Given the description of an element on the screen output the (x, y) to click on. 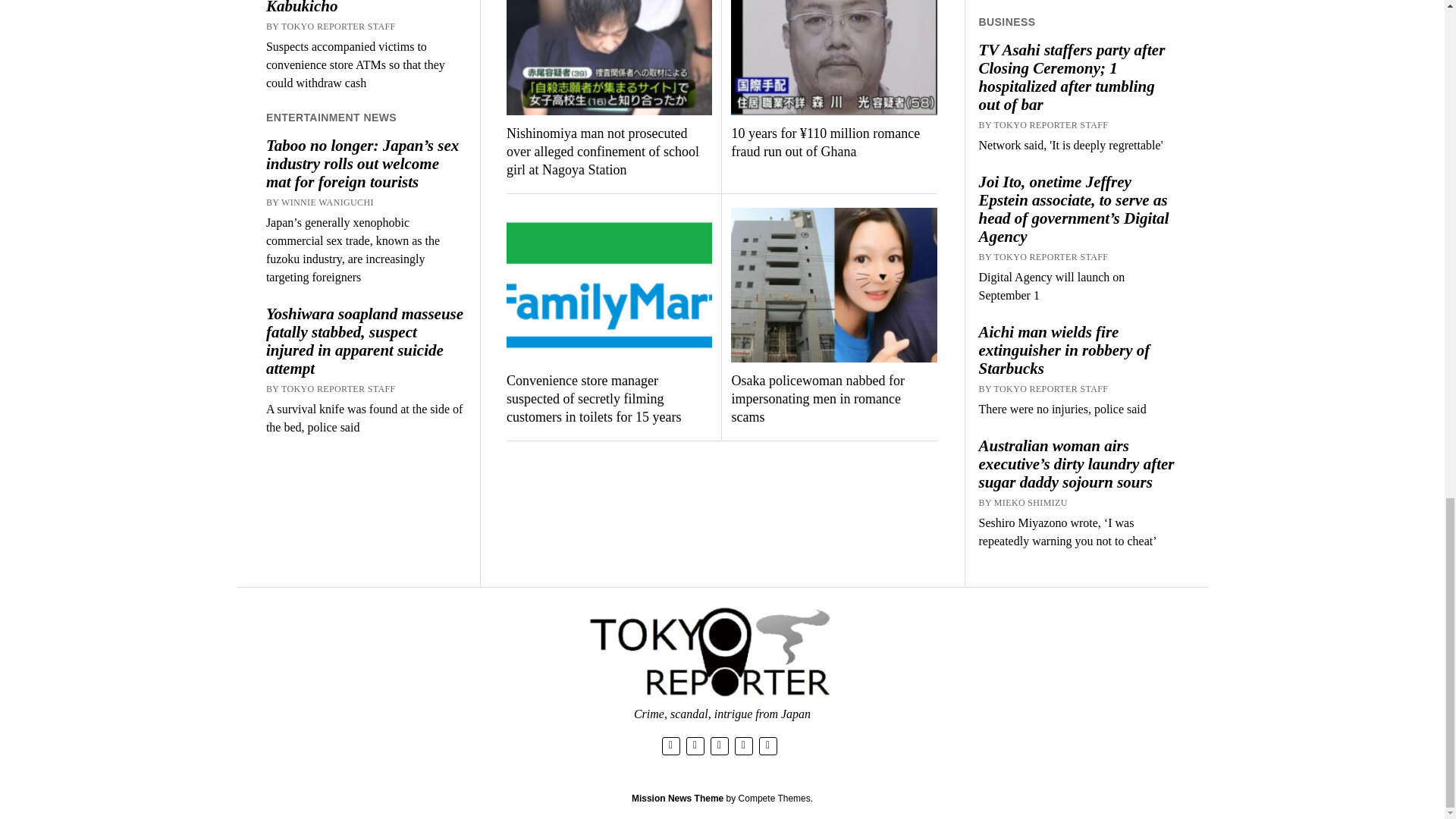
reddit (743, 745)
twitter (670, 745)
tumblr (767, 745)
facebook (695, 745)
